Given the description of an element on the screen output the (x, y) to click on. 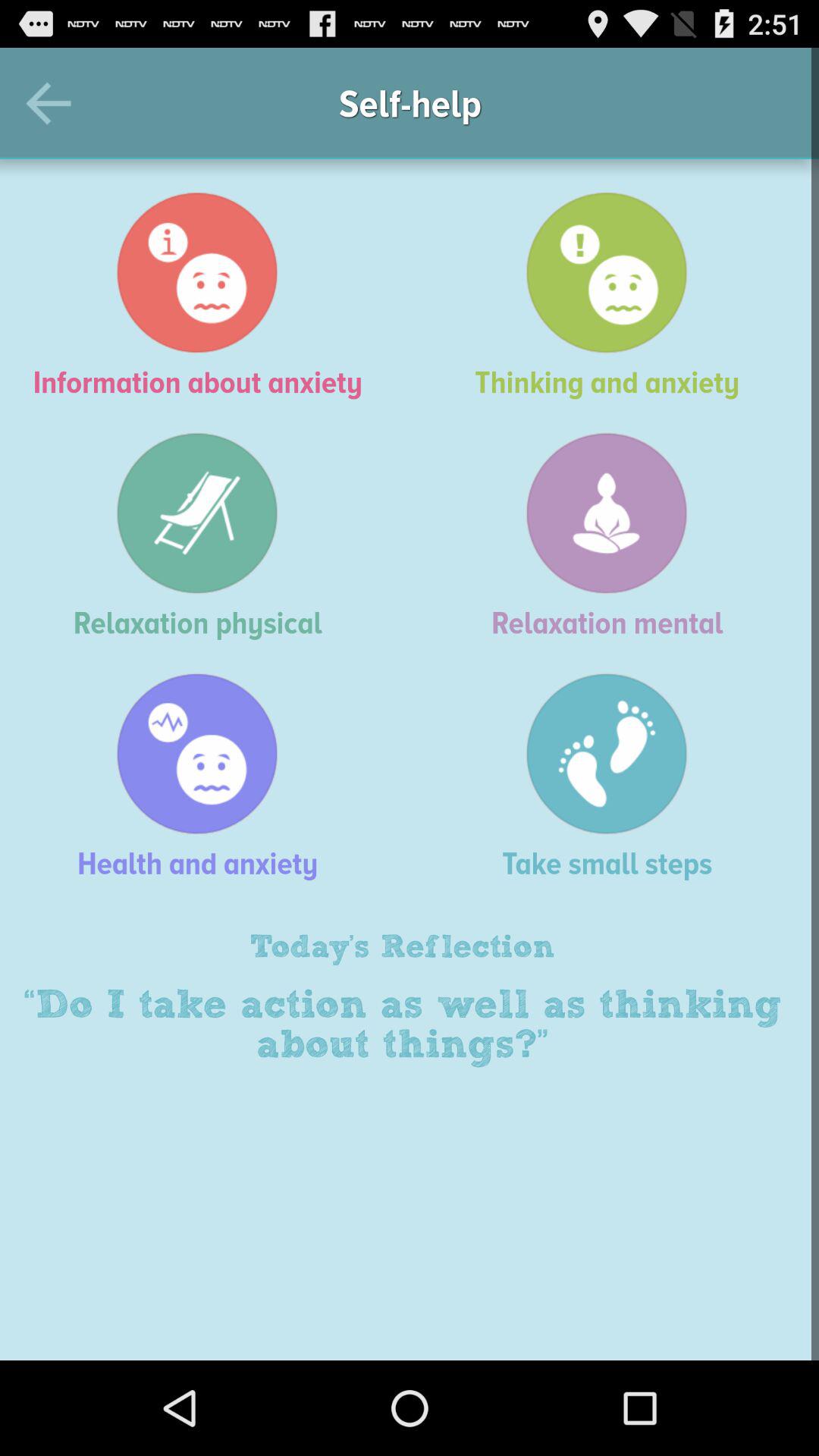
press the item to the left of the thinking and anxiety item (204, 295)
